Given the description of an element on the screen output the (x, y) to click on. 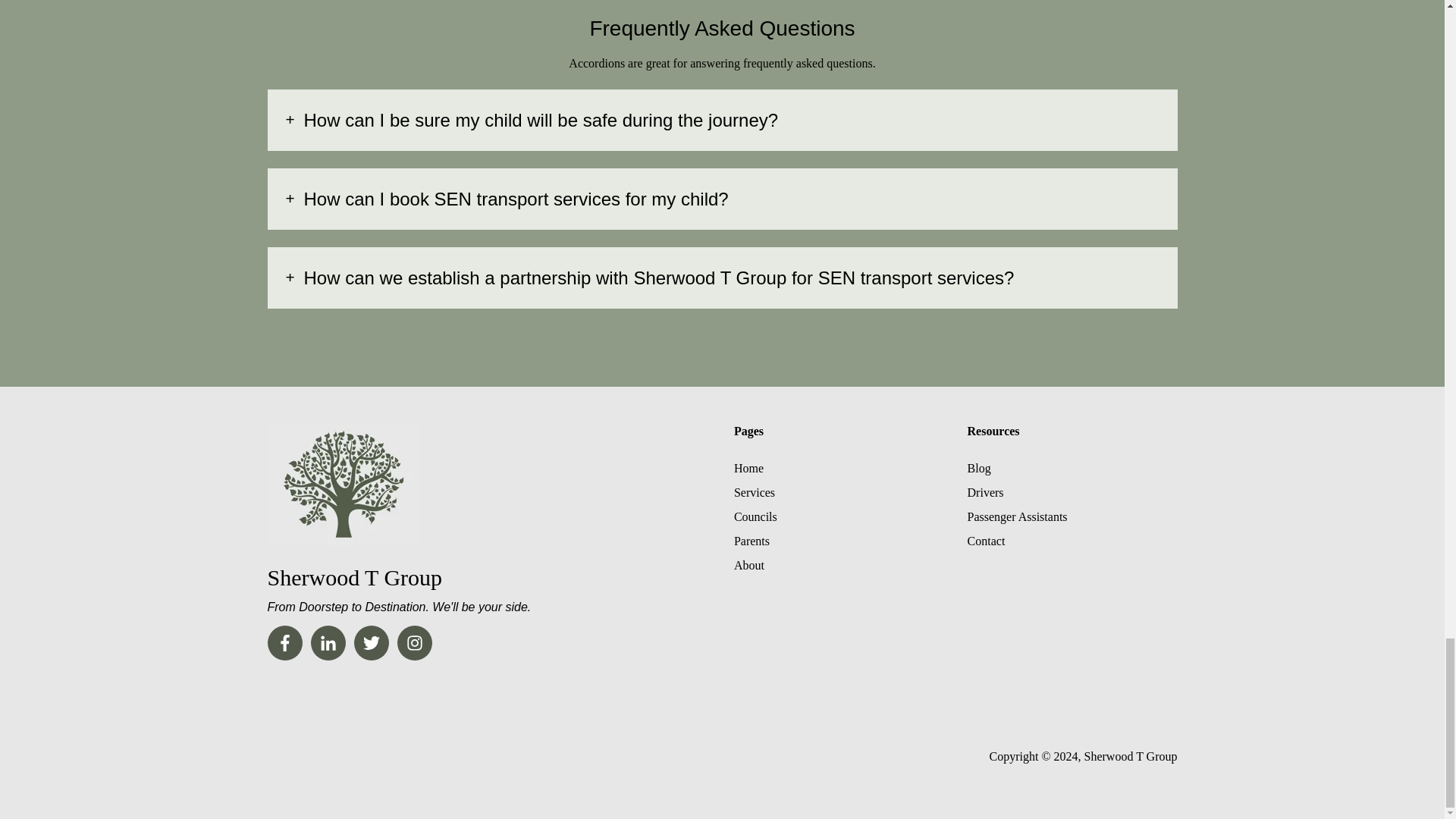
Sherwood T Group Logo - tree only-1 (342, 484)
Services (753, 492)
About (748, 564)
Home (747, 468)
Councils (755, 516)
Parents (751, 540)
